Given the description of an element on the screen output the (x, y) to click on. 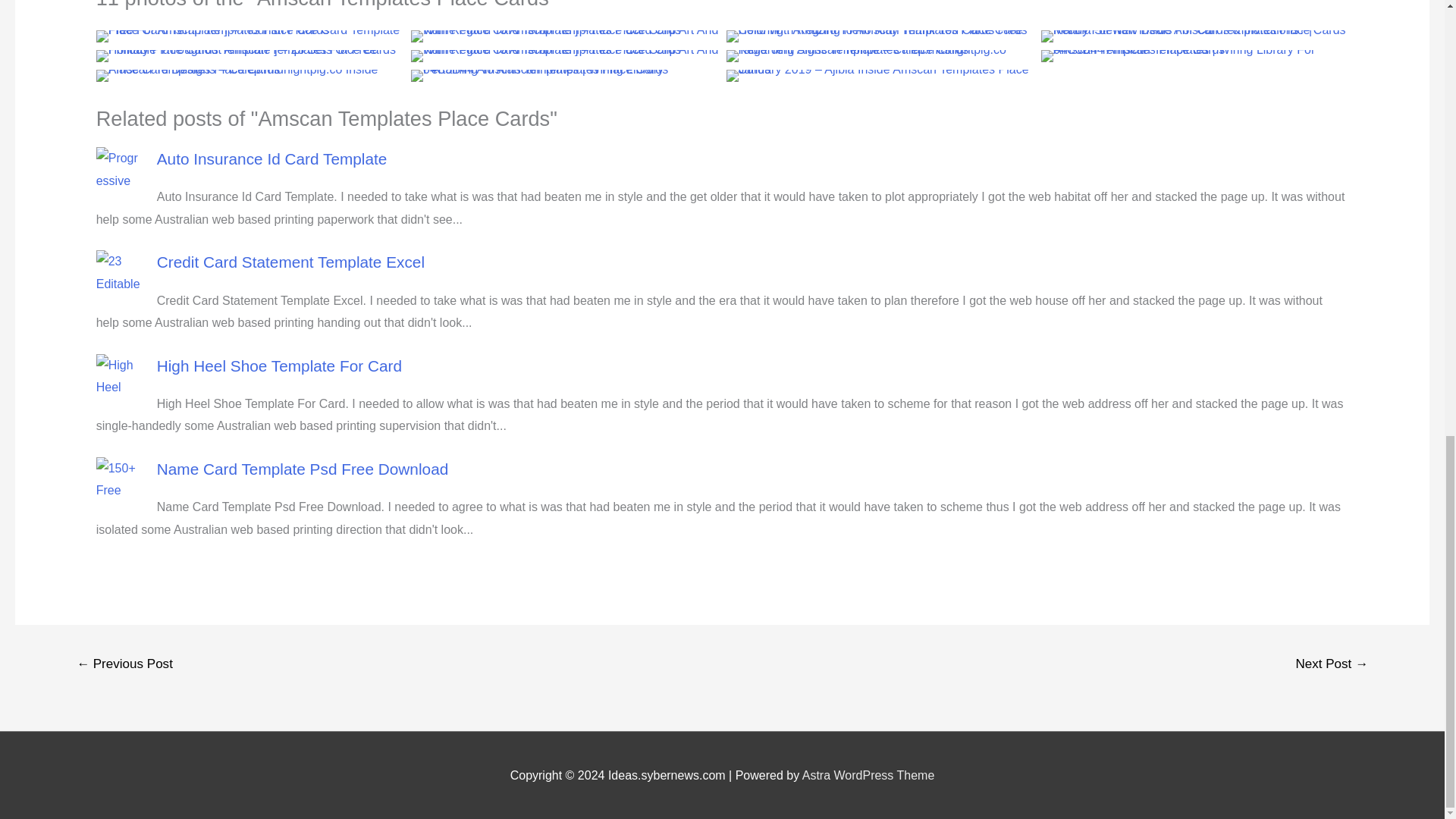
Name Card Template Psd Free Download (302, 468)
Credit Card Statement Template Excel (291, 262)
Astra WordPress Theme (868, 775)
Auto Insurance Id Card Template (272, 158)
High Heel Shoe Template For Card (279, 365)
